Given the description of an element on the screen output the (x, y) to click on. 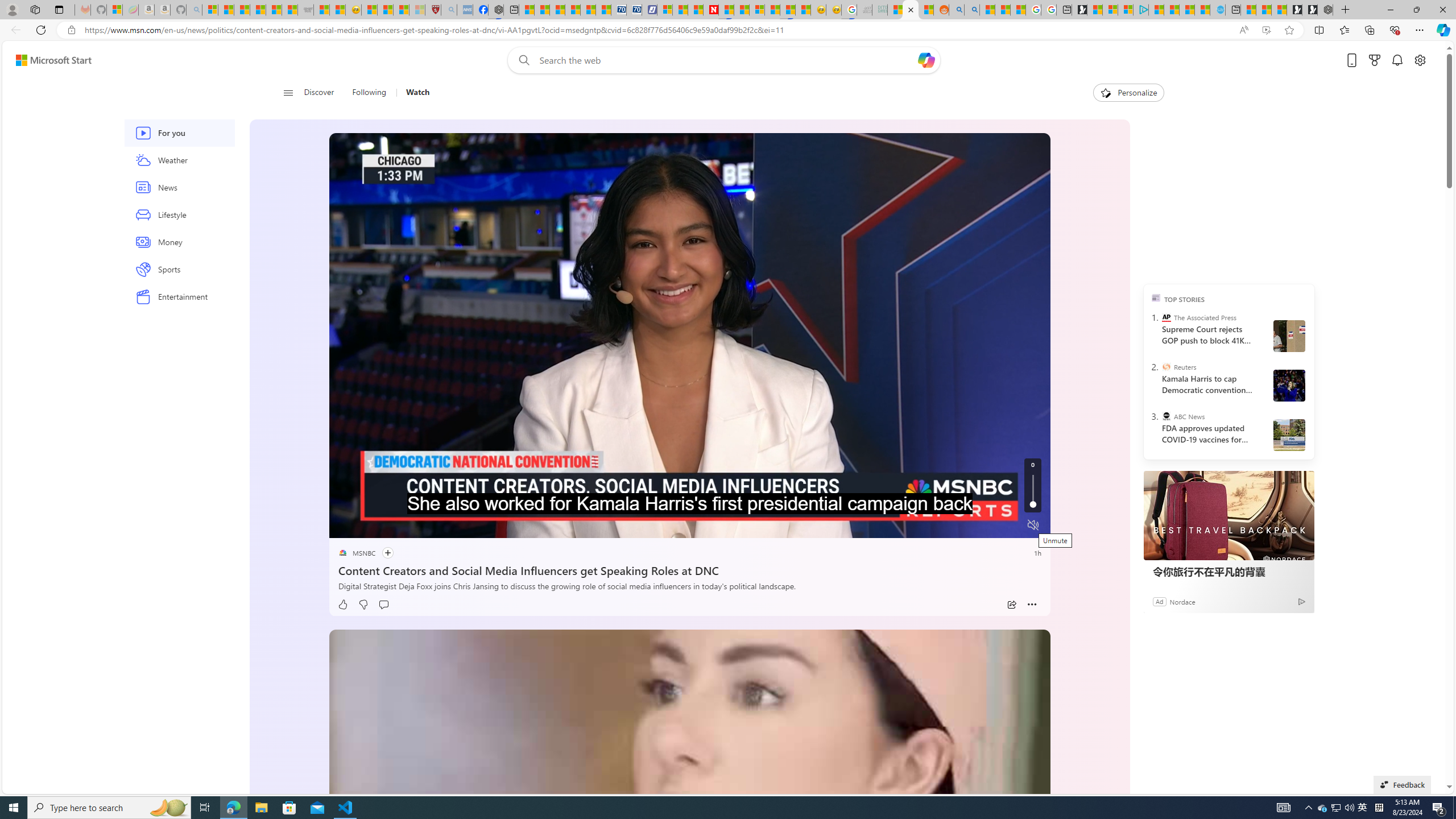
Quality Settings (964, 525)
Cheap Car Rentals - Save70.com (618, 9)
Watch (412, 92)
